Given the description of an element on the screen output the (x, y) to click on. 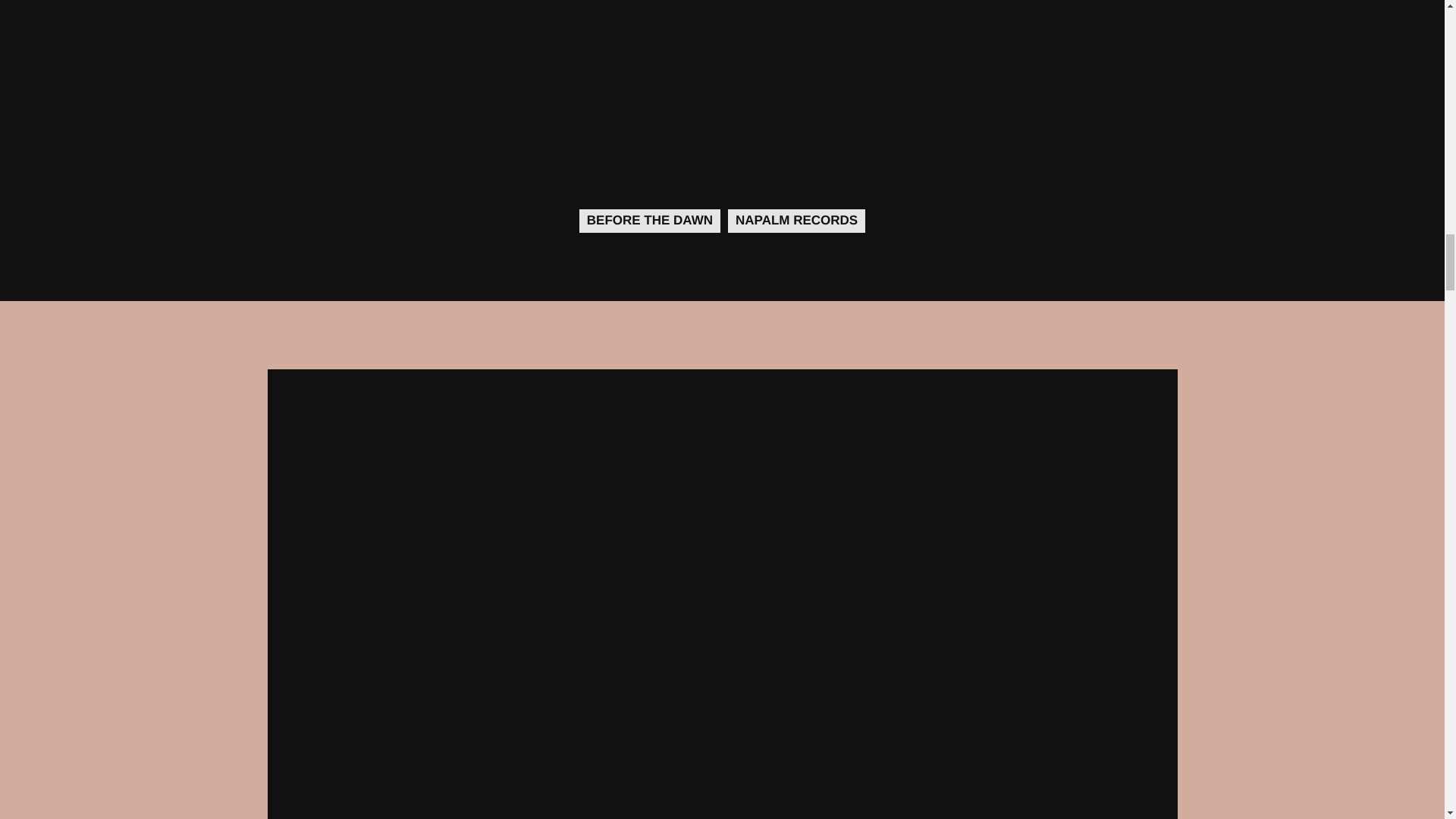
NAPALM RECORDS (796, 220)
BEFORE THE DAWN (649, 220)
